Given the description of an element on the screen output the (x, y) to click on. 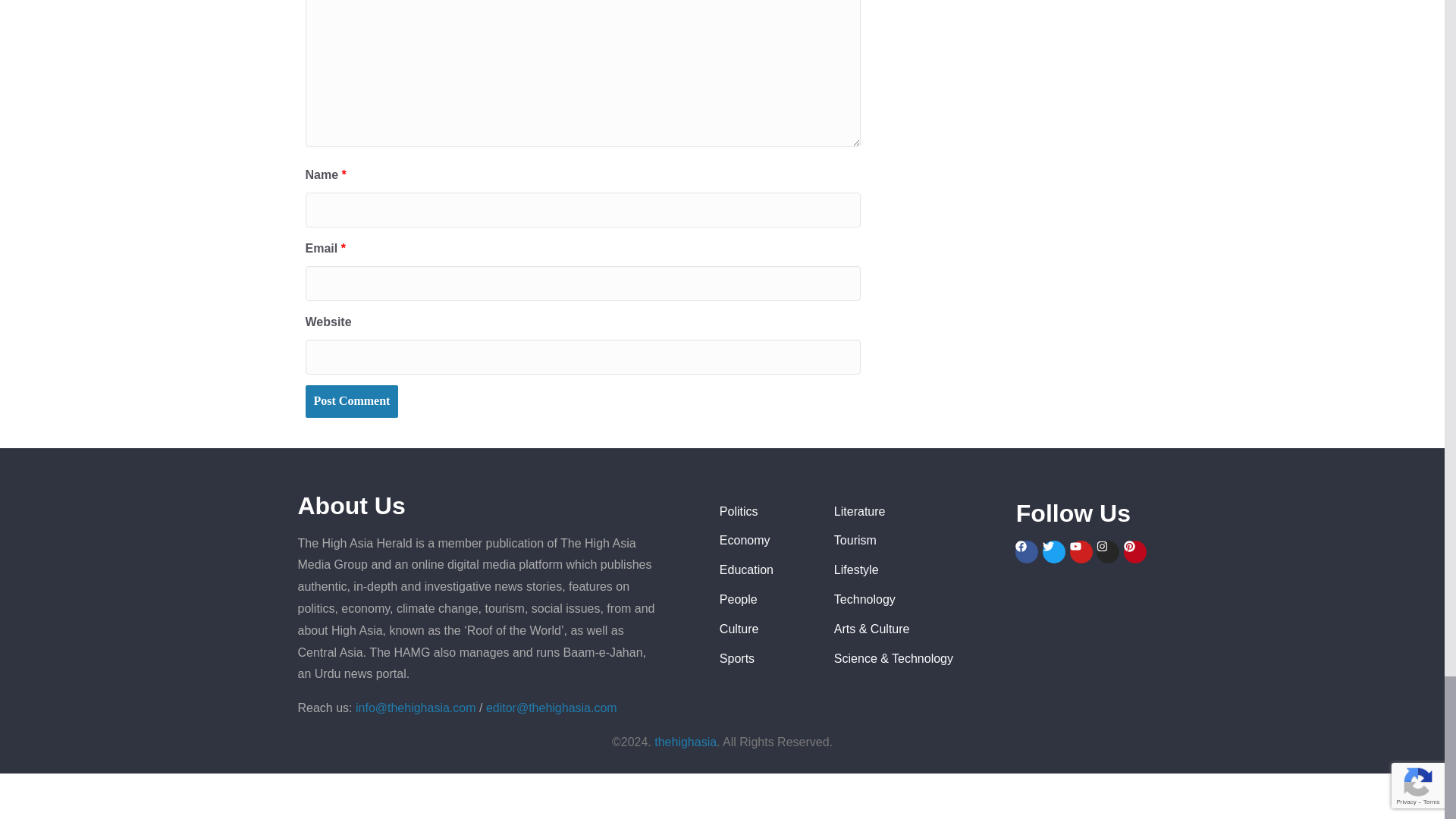
Post Comment (350, 400)
Tourism (917, 540)
Economy (764, 540)
Literature (917, 512)
Culture (764, 629)
People (764, 599)
Technology (917, 599)
Sports (764, 659)
Education (764, 570)
Politics (764, 512)
Lifestyle (917, 570)
Post Comment (350, 400)
